Given the description of an element on the screen output the (x, y) to click on. 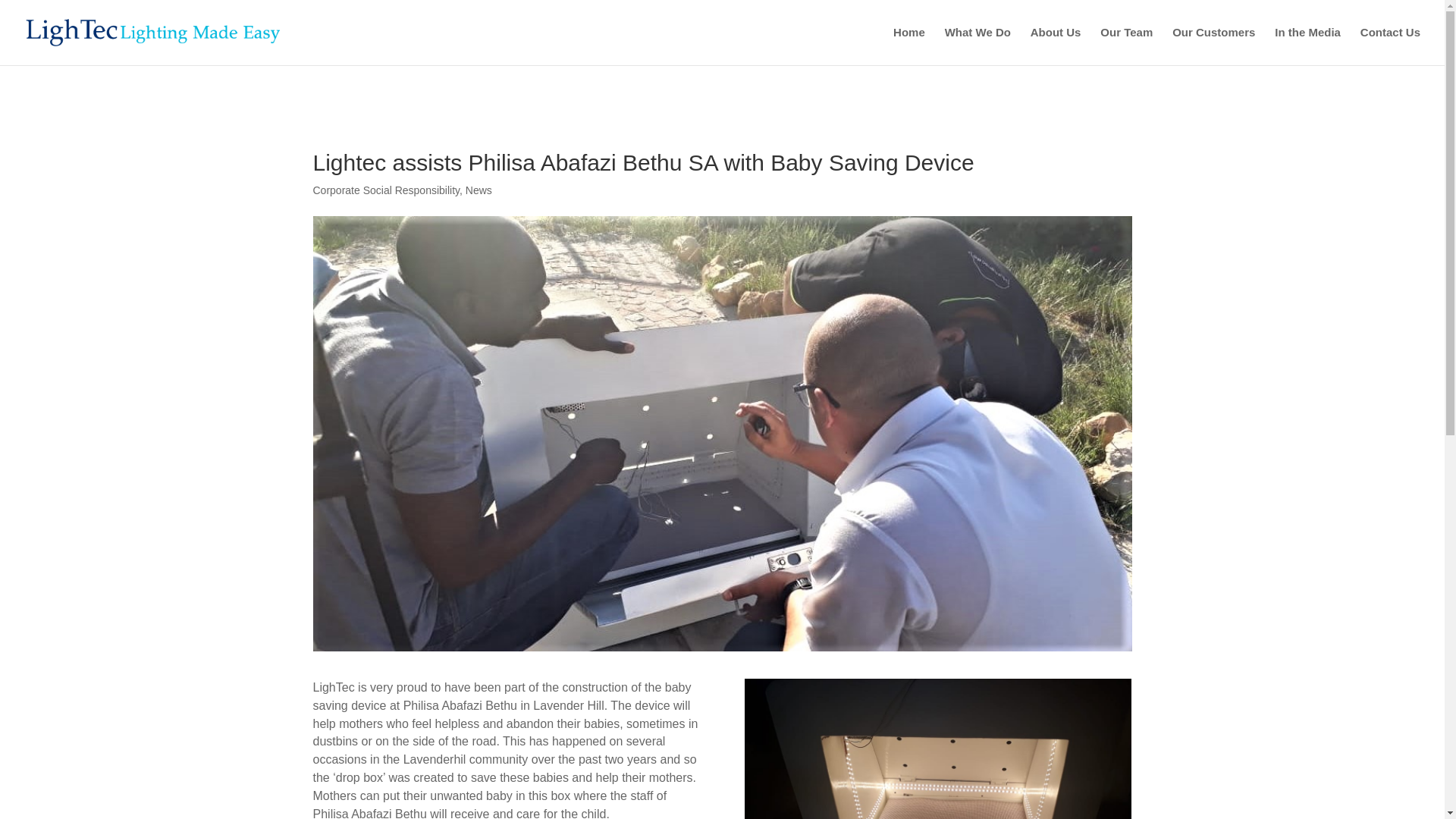
Our Team (1126, 46)
About Us (1055, 46)
News (478, 190)
Contact Us (1390, 46)
Corporate Social Responsibility (386, 190)
What We Do (977, 46)
Our Customers (1213, 46)
In the Media (1307, 46)
